Given the description of an element on the screen output the (x, y) to click on. 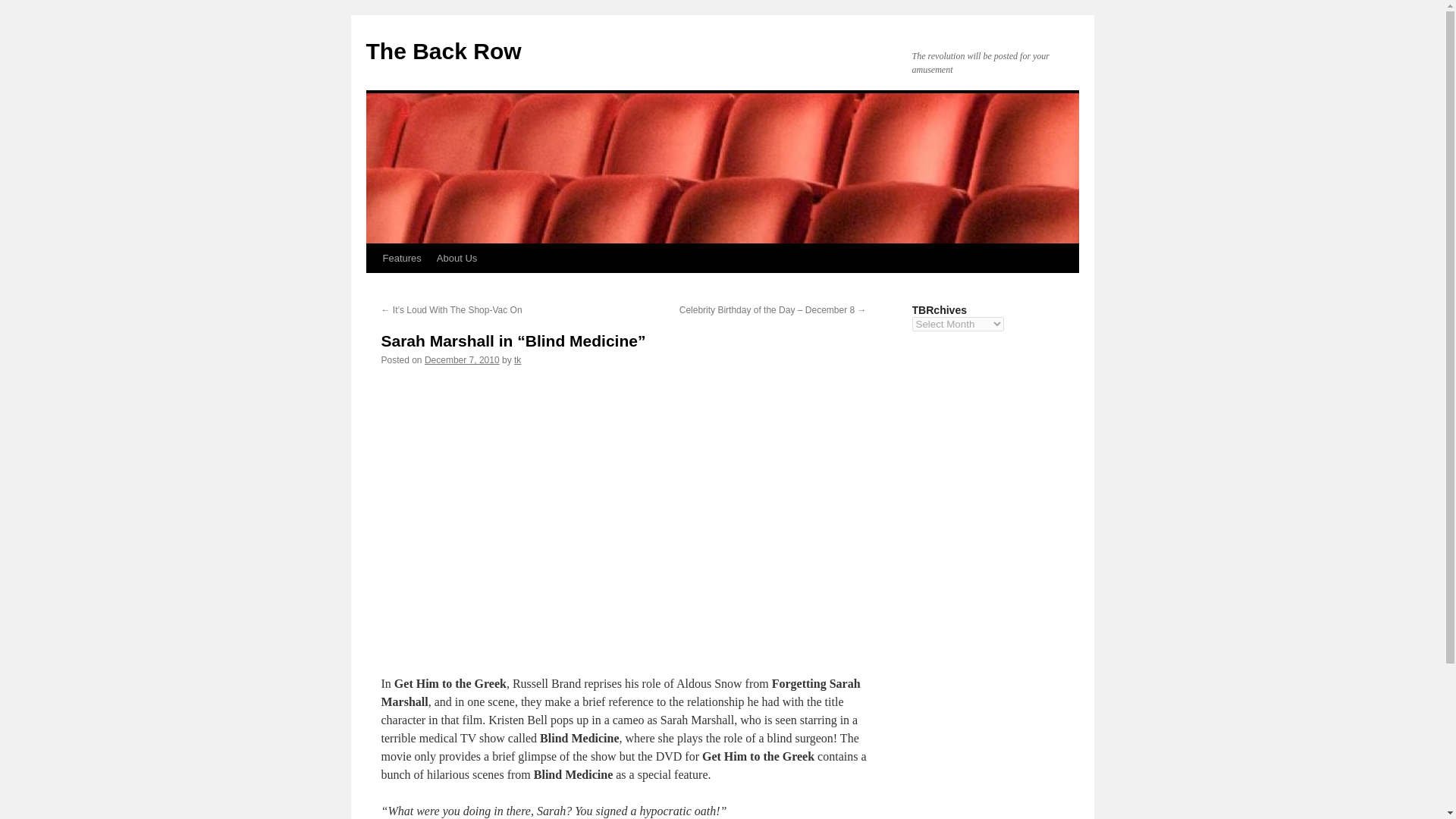
About Us (456, 258)
December 7, 2010 (462, 359)
Features (401, 258)
Blind Medicine - starring Sarah Marshall  trailer (623, 514)
The Back Row (443, 50)
10:25 pm (462, 359)
